Given the description of an element on the screen output the (x, y) to click on. 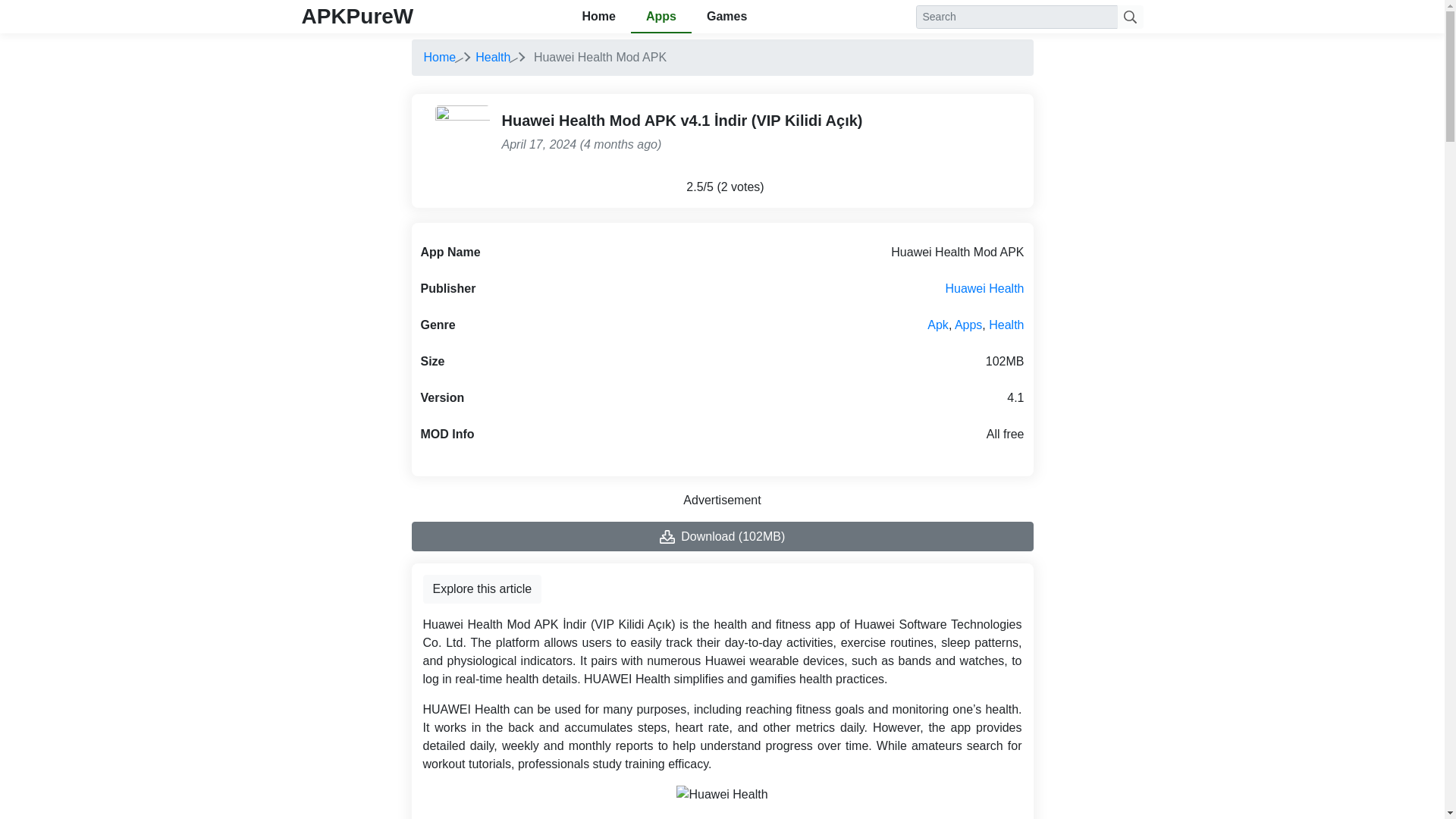
Home (439, 56)
Home (439, 56)
Apps (968, 324)
APKPureW (357, 15)
Health (1005, 324)
Games (726, 16)
Health (493, 56)
Huawei Health (983, 287)
Explore this article (482, 588)
